Given the description of an element on the screen output the (x, y) to click on. 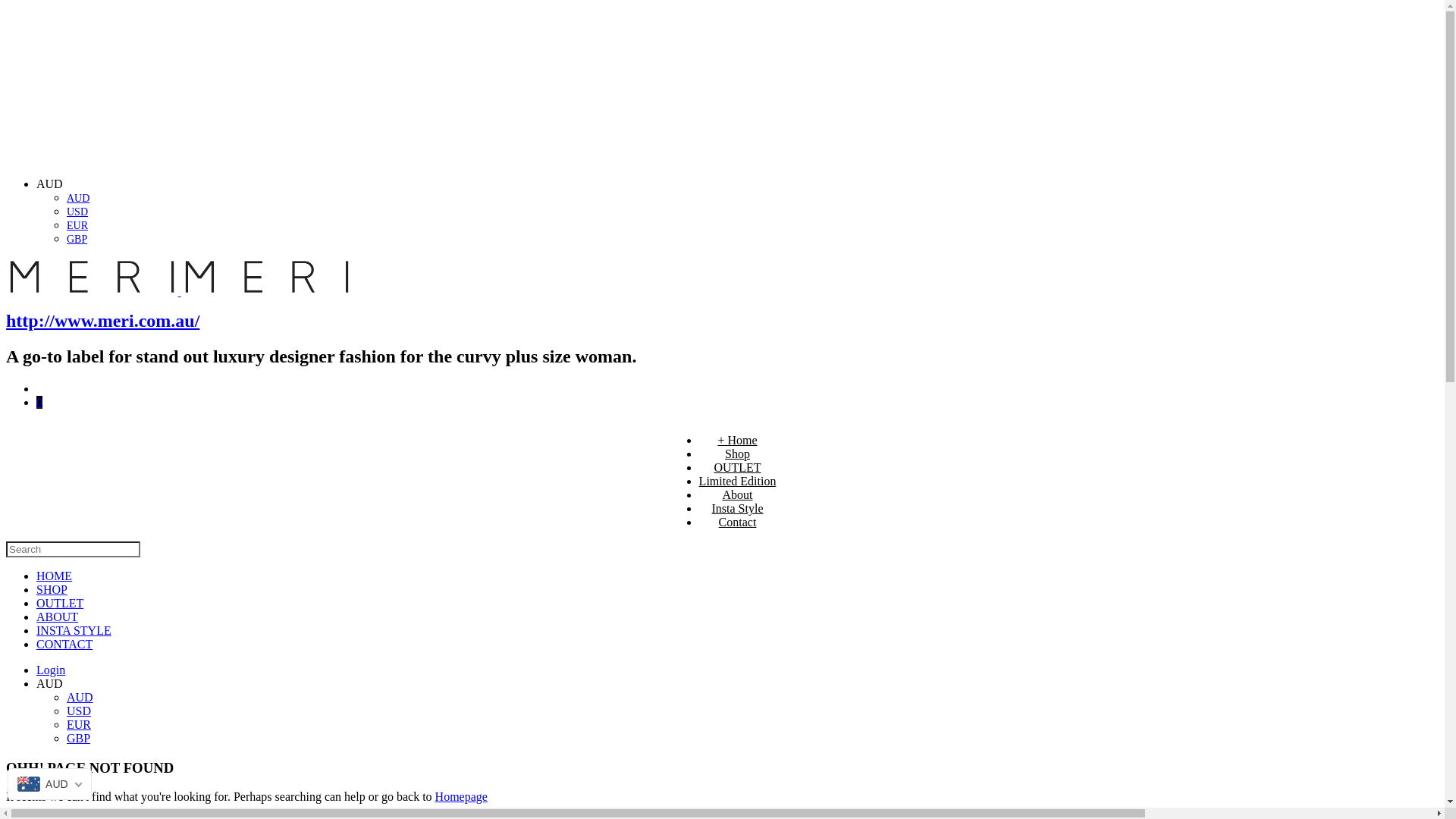
GBP Element type: text (78, 737)
OUTLET Element type: text (736, 467)
EUR Element type: text (76, 225)
AUD Element type: text (77, 197)
ABOUT Element type: text (57, 616)
Login Element type: text (50, 669)
USD Element type: text (78, 710)
OUTLET Element type: text (59, 602)
+ Home Element type: text (736, 439)
SHOP Element type: text (51, 589)
About Element type: text (736, 494)
Homepage Element type: text (461, 796)
0 Element type: text (39, 401)
INSTA STYLE Element type: text (73, 630)
Shop Element type: text (736, 453)
GBP Element type: text (76, 238)
Insta Style Element type: text (736, 508)
AUD Element type: text (79, 696)
http://www.meri.com.au/ Element type: text (102, 320)
CONTACT Element type: text (64, 643)
EUR Element type: text (78, 724)
Limited Edition Element type: text (737, 480)
USD Element type: text (76, 211)
Contact Element type: text (737, 521)
HOME Element type: text (54, 575)
